Given the description of an element on the screen output the (x, y) to click on. 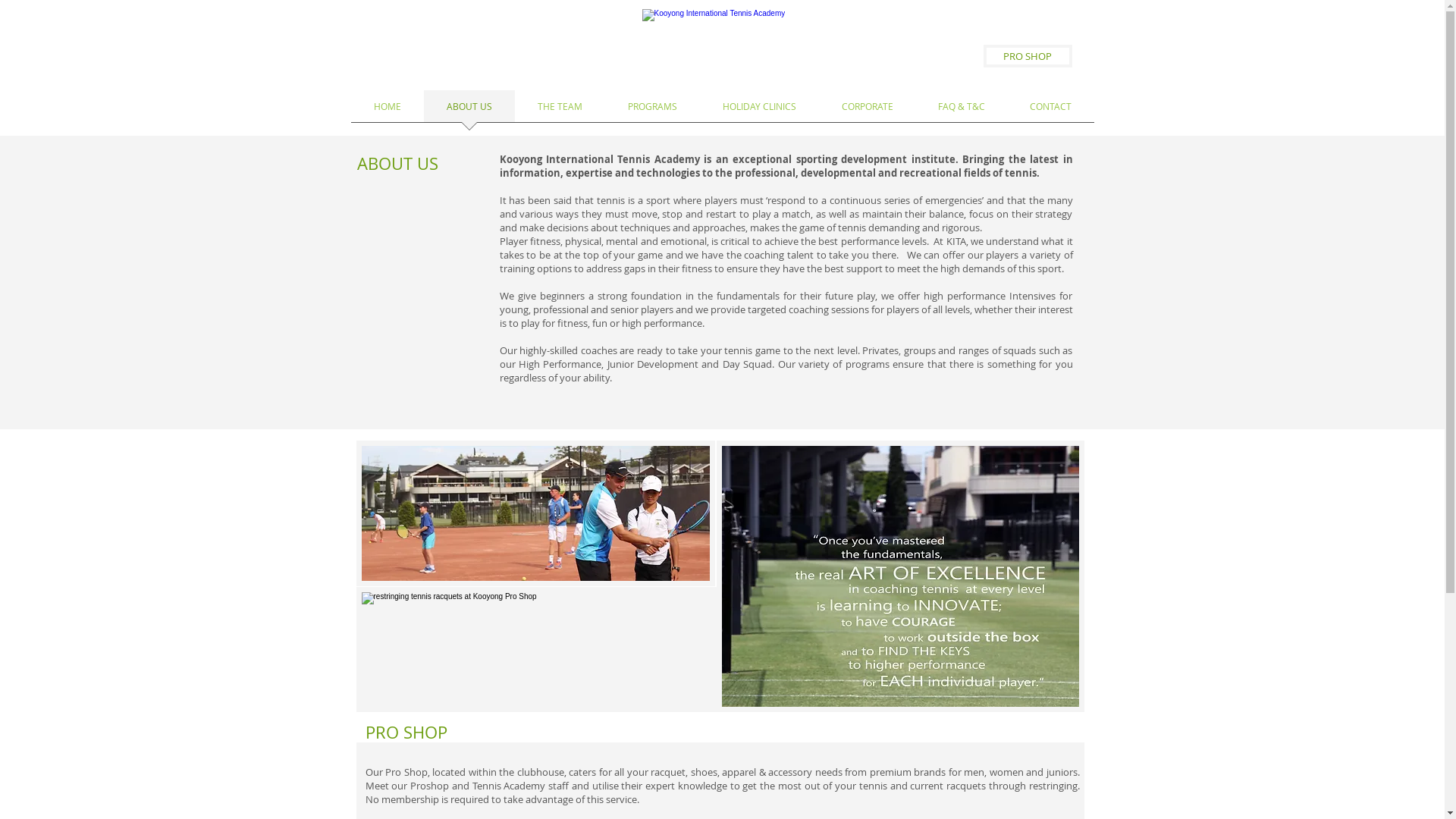
CONTACT Element type: text (1050, 110)
Racquet restringing at te Pro Shop Element type: hover (536, 649)
ABOUT US Element type: text (468, 110)
The Art of Excellence in tennis coaching at Kooyong Element type: hover (899, 576)
THE TEAM Element type: text (559, 110)
HOME Element type: text (386, 110)
PROGRAMS Element type: text (652, 110)
Squad Development Program Element type: hover (535, 513)
HOLIDAY CLINICS Element type: text (758, 110)
FAQ & T&C Element type: text (961, 110)
CORPORATE Element type: text (867, 110)
PRO SHOP Element type: text (1026, 55)
